Given the description of an element on the screen output the (x, y) to click on. 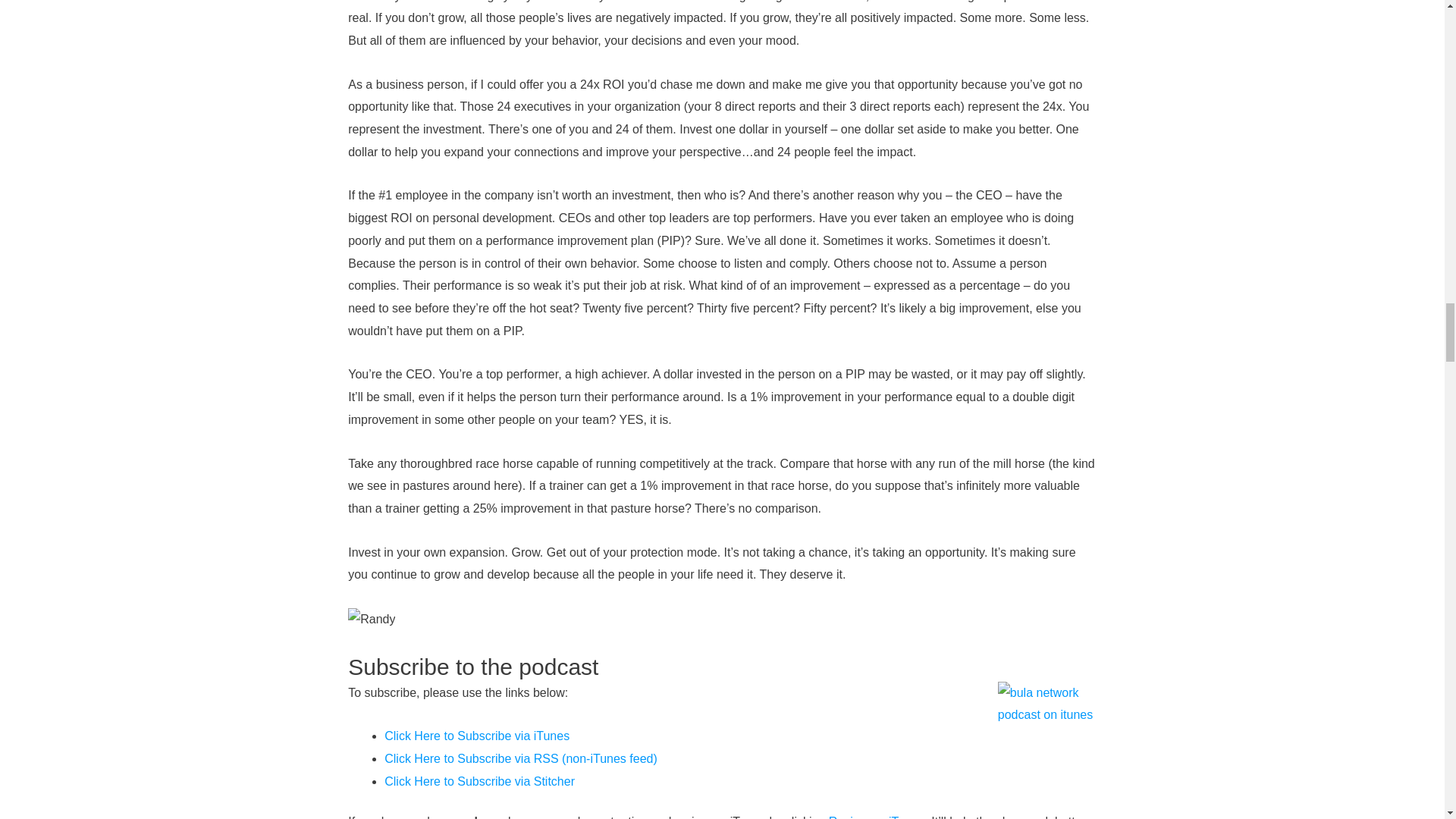
bula network podcast on itunes (1046, 730)
Bula Network Podcast on iTunes (476, 735)
Bula Network Podcast via RSS (521, 758)
Bula Network podcast (479, 780)
Click Here to Subscribe via iTunes (476, 735)
Bula Network Podcast Reviews (876, 816)
